Given the description of an element on the screen output the (x, y) to click on. 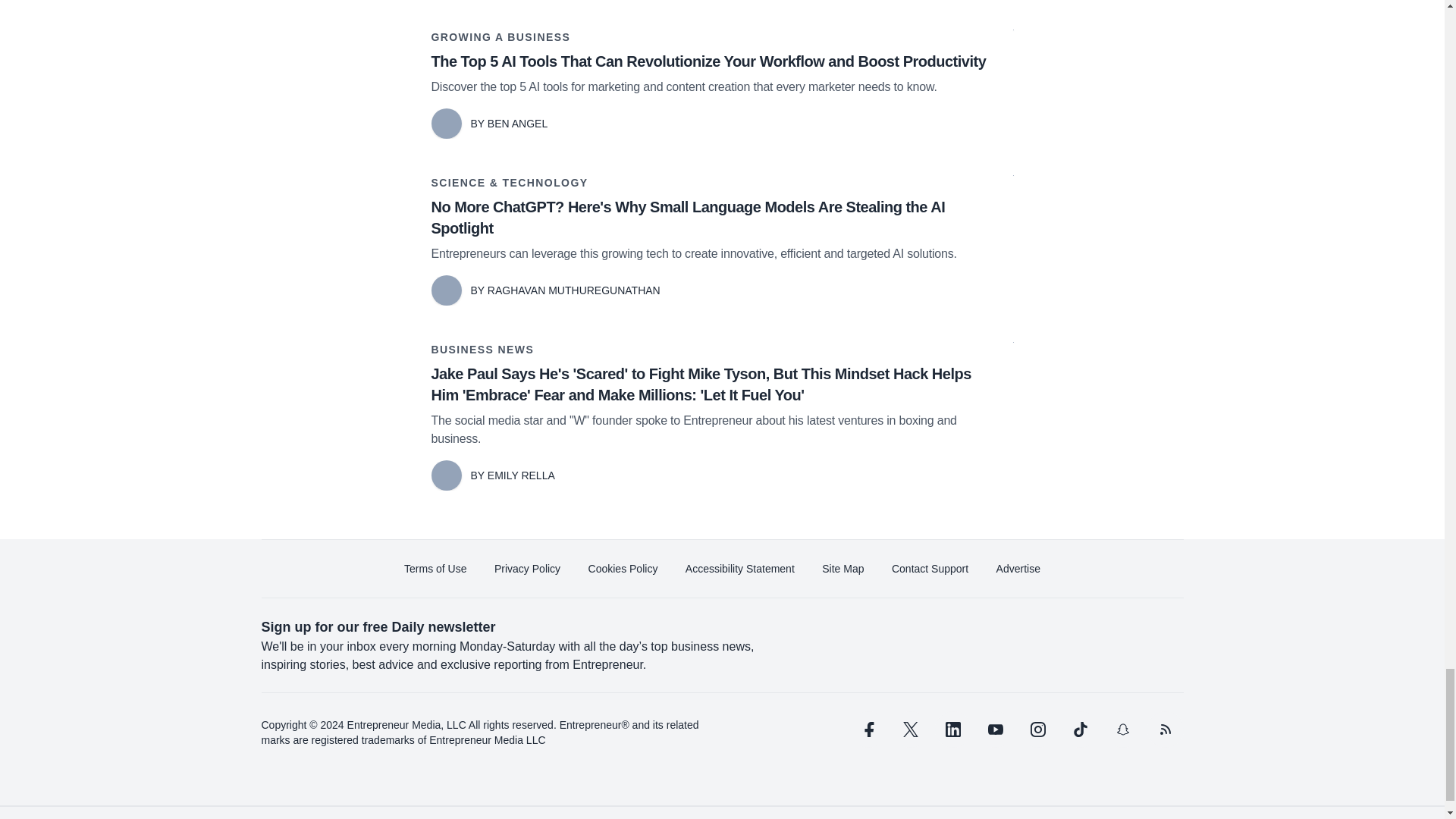
twitter (909, 729)
snapchat (1121, 729)
tiktok (1079, 729)
facebook (866, 729)
linkedin (952, 729)
instagram (1037, 729)
youtube (994, 729)
